Given the description of an element on the screen output the (x, y) to click on. 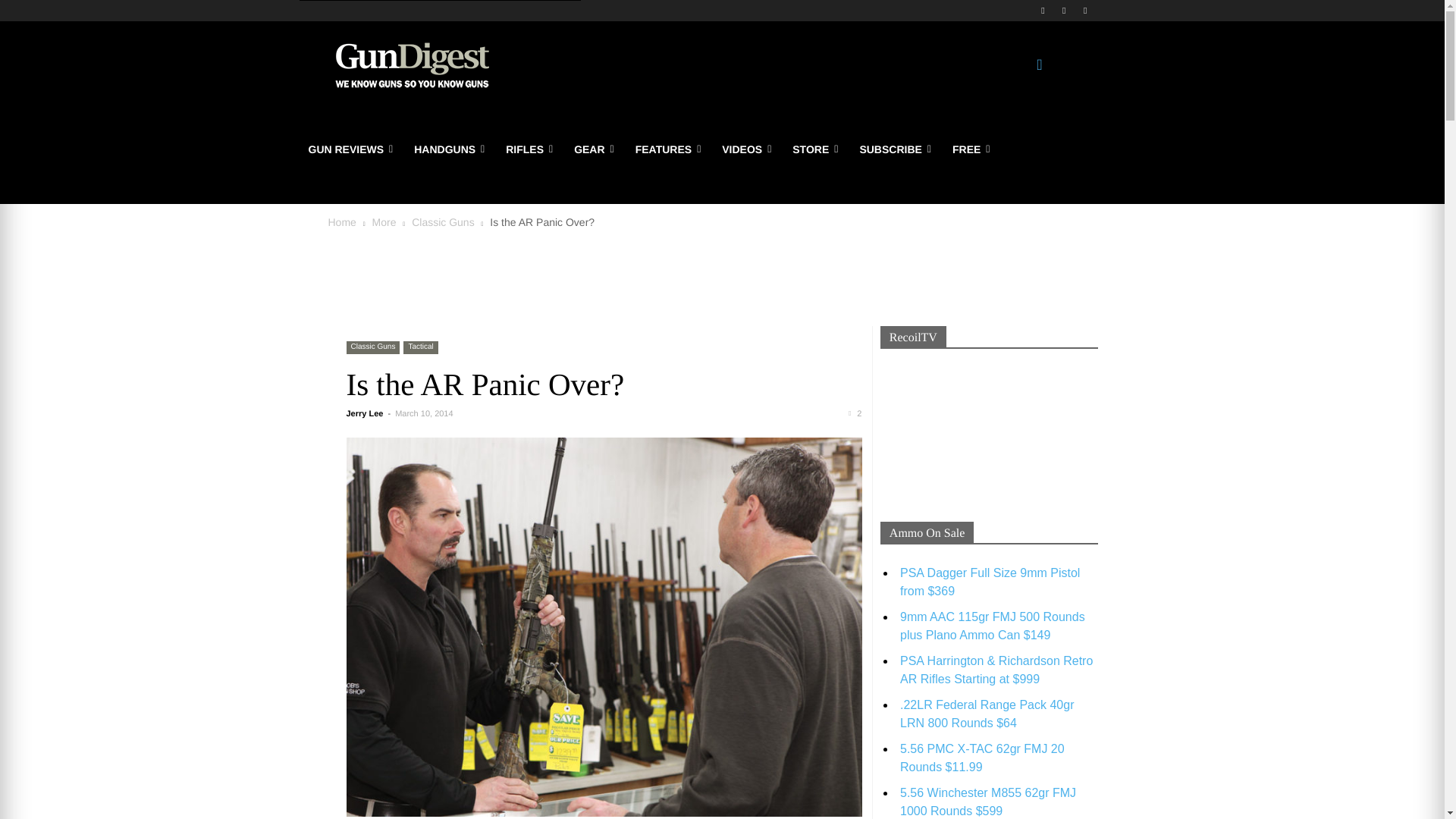
We know guns so you know guns (411, 64)
Twitter (1064, 9)
We know guns so you know guns (411, 64)
View all posts in Classic Guns (443, 222)
Youtube (1085, 9)
Facebook (1042, 9)
View all posts in More (384, 222)
Is the AR Panic Over? (485, 384)
